Given the description of an element on the screen output the (x, y) to click on. 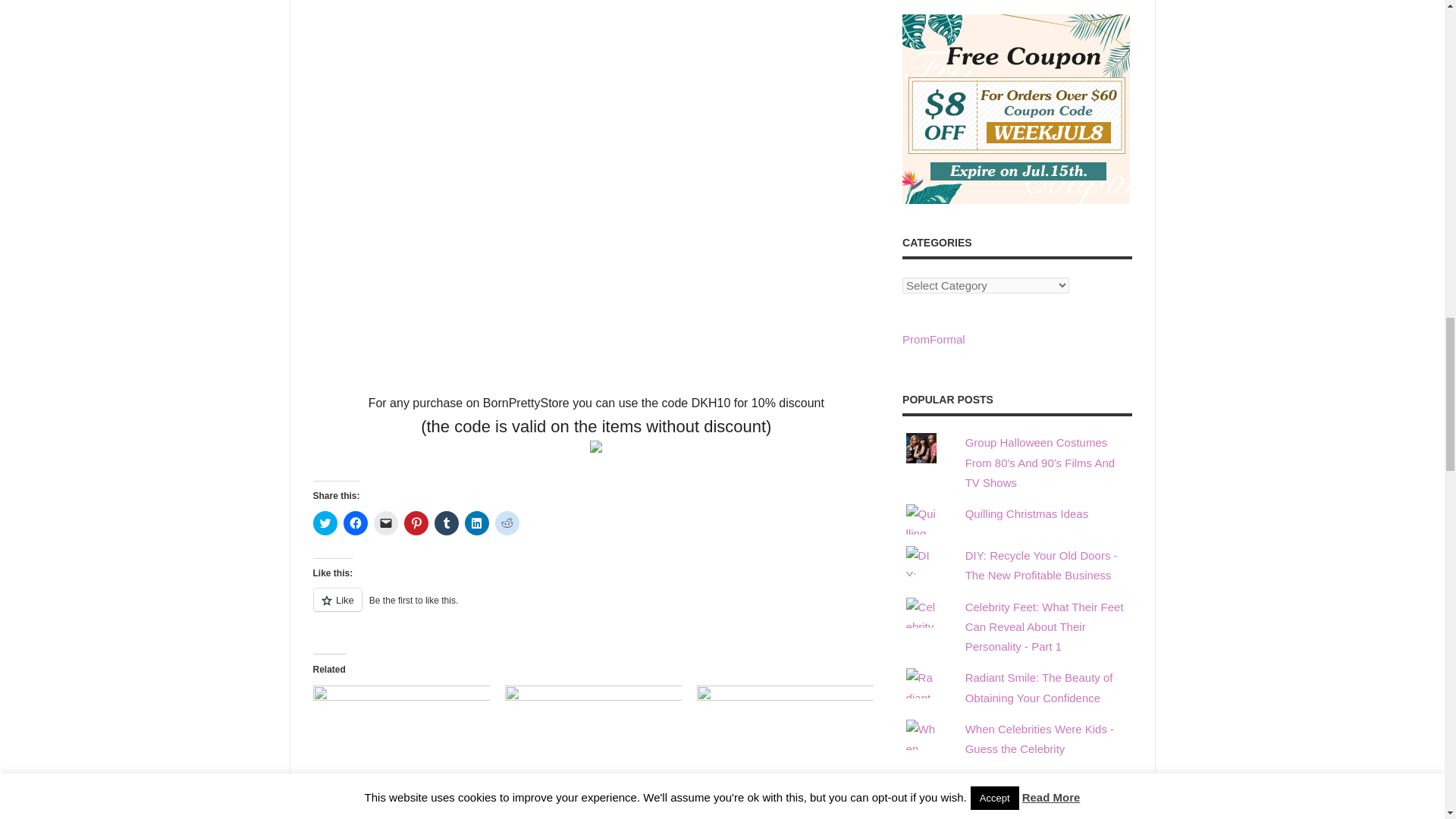
Purple Feather Lashes from BornPrettyStore (378, 800)
Click to email a link to a friend (384, 523)
Click to share on Reddit (506, 523)
Using feather false lashes from BornPrettyStore (577, 800)
Purple Feather Lashes from BornPrettyStore (378, 800)
Click to share on Facebook (354, 523)
Click to share on Twitter (324, 523)
Like or Reblog (596, 608)
Purple Feather Lashes from BornPrettyStore (401, 735)
Using feather false lashes from BornPrettyStore (577, 800)
